Given the description of an element on the screen output the (x, y) to click on. 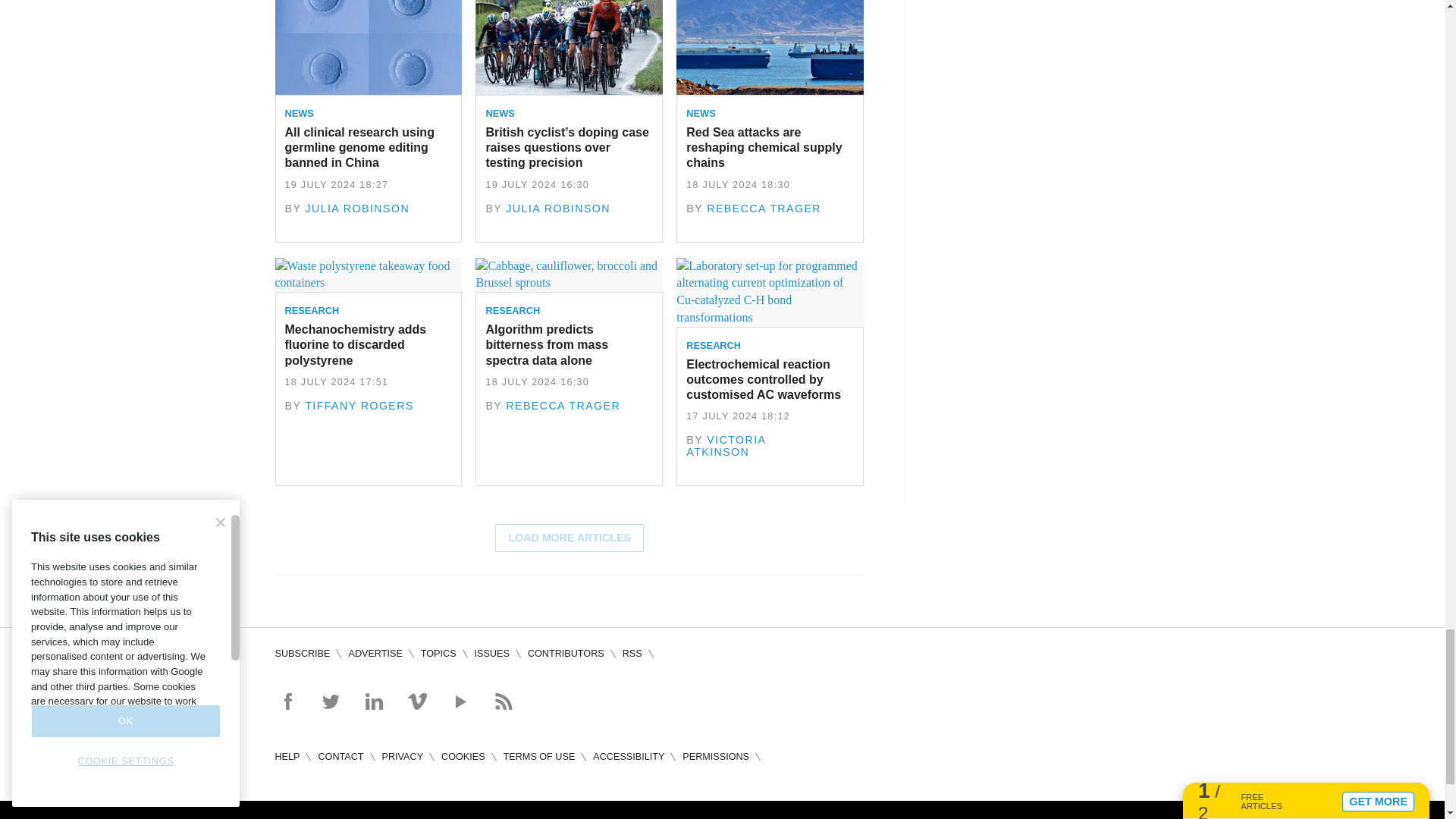
Follow on Twitter (330, 701)
Follow on Facebook (287, 701)
